Given the description of an element on the screen output the (x, y) to click on. 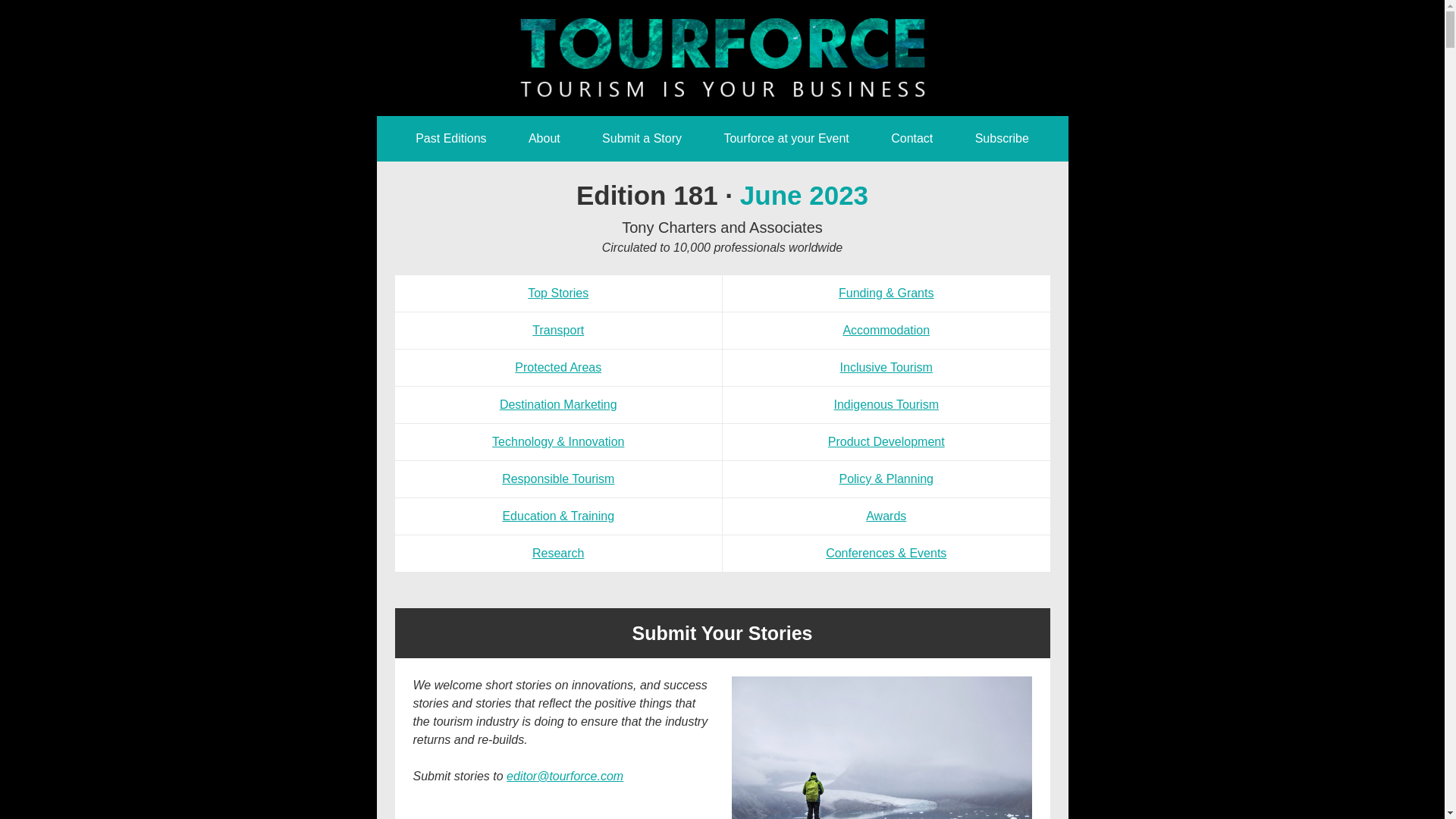
About (543, 138)
Past Editions (450, 138)
Top Stories (558, 293)
Transport (558, 330)
Protected Areas (558, 367)
Responsible Tourism (558, 479)
Research (558, 553)
Destination Marketing (558, 404)
Submit a Story (640, 138)
